Given the description of an element on the screen output the (x, y) to click on. 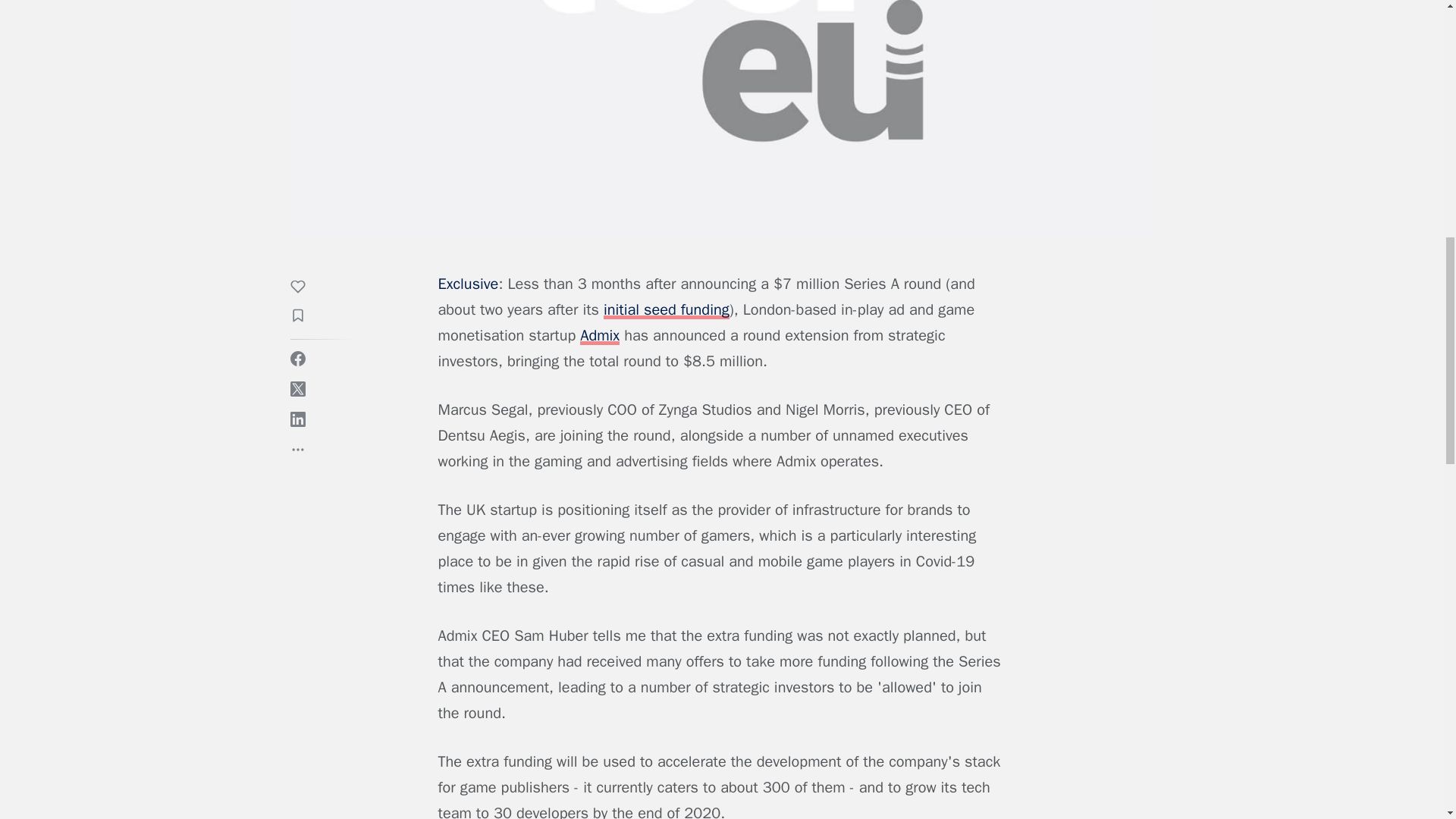
Share on Linkedin (296, 418)
Share on Facebook (296, 358)
Add to collection (304, 317)
Like (304, 288)
Share on Twitter (296, 388)
